Given the description of an element on the screen output the (x, y) to click on. 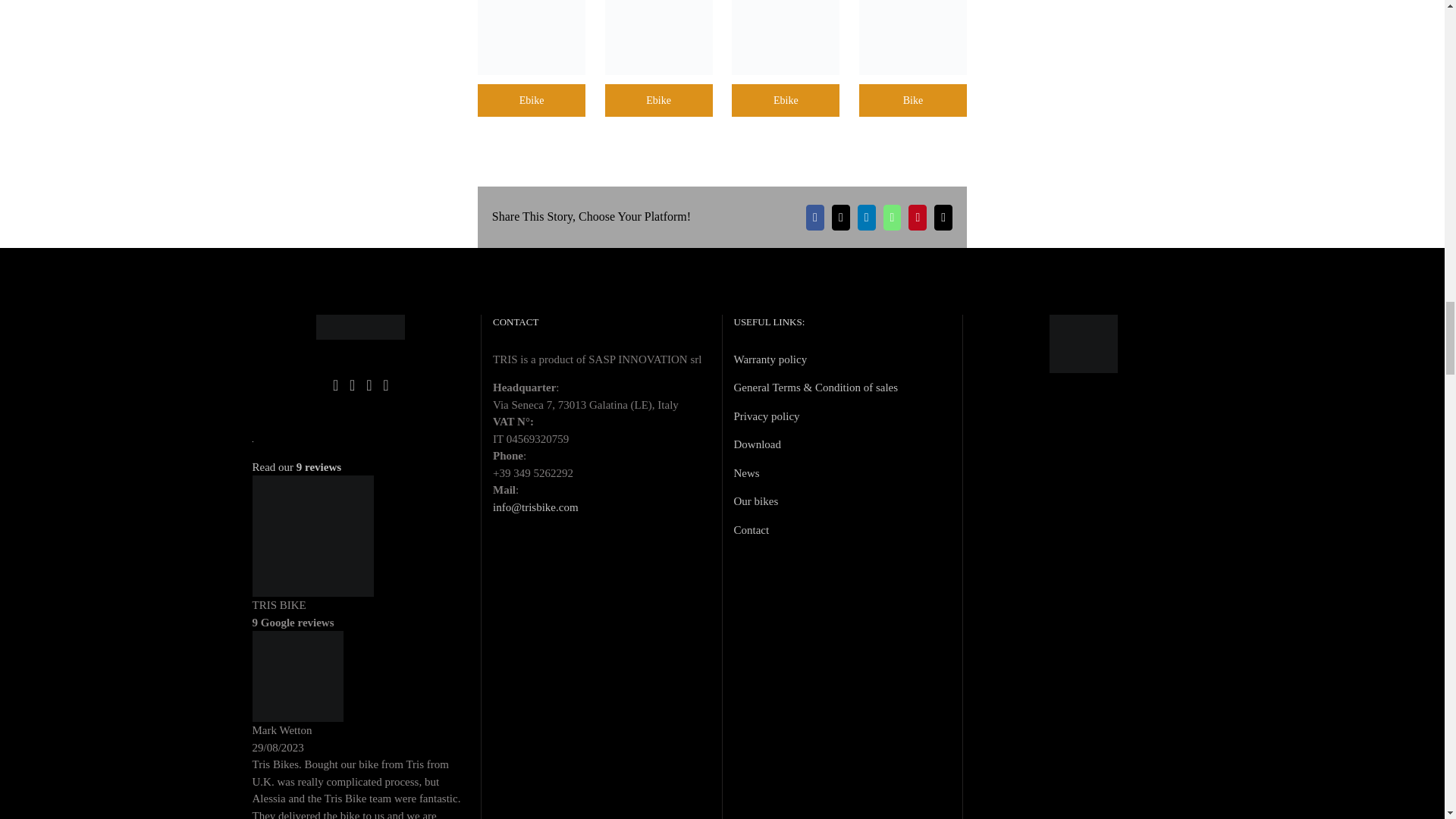
Ebike (531, 100)
Ebike (659, 100)
TRIS FIX tilting electric trike (721, 70)
Bike (659, 37)
Ebike (912, 100)
